Given the description of an element on the screen output the (x, y) to click on. 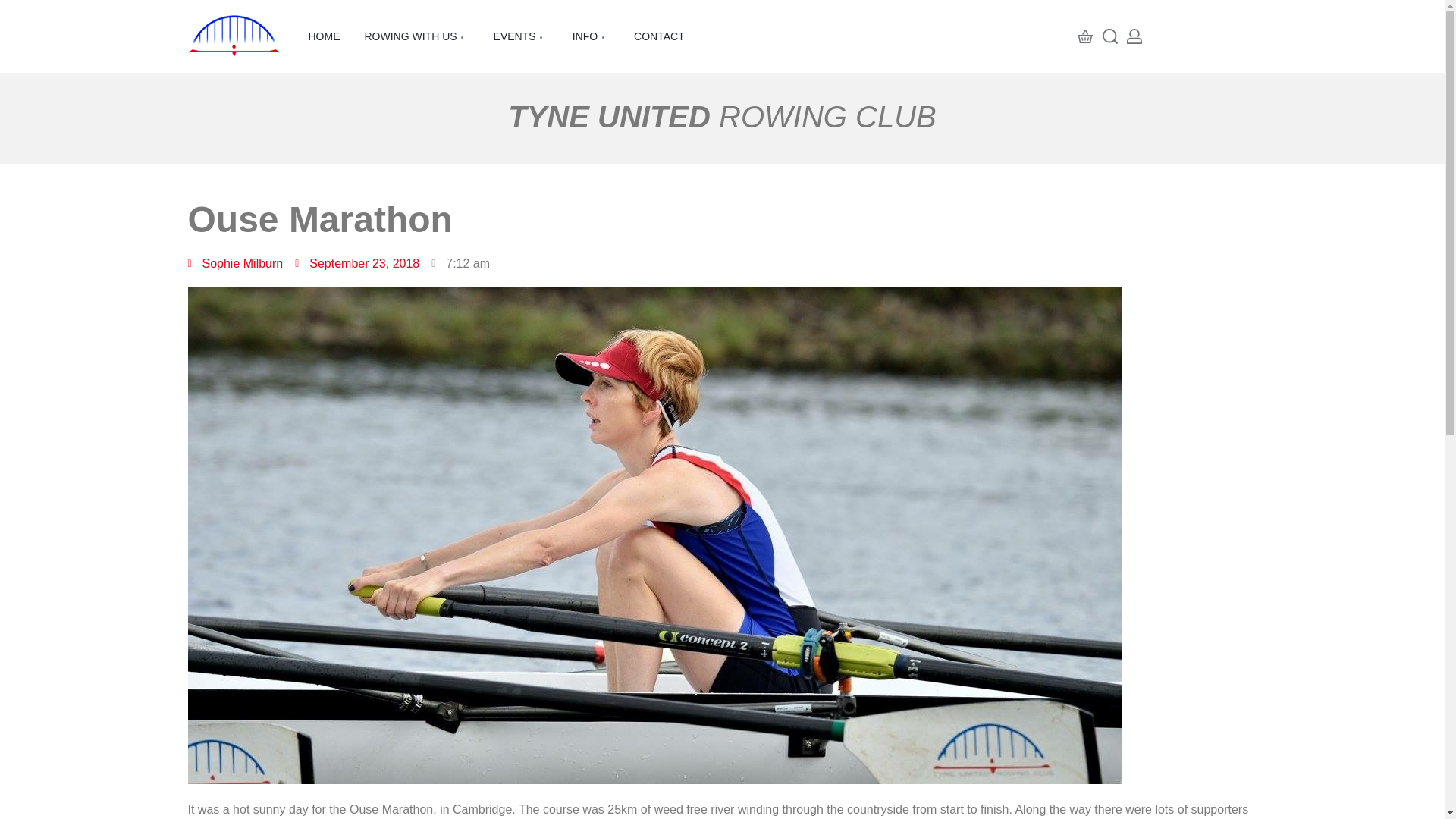
INFO (591, 36)
EVENTS (520, 36)
CONTACT (658, 36)
ROWING WITH US (416, 36)
HOME (323, 36)
